Given the description of an element on the screen output the (x, y) to click on. 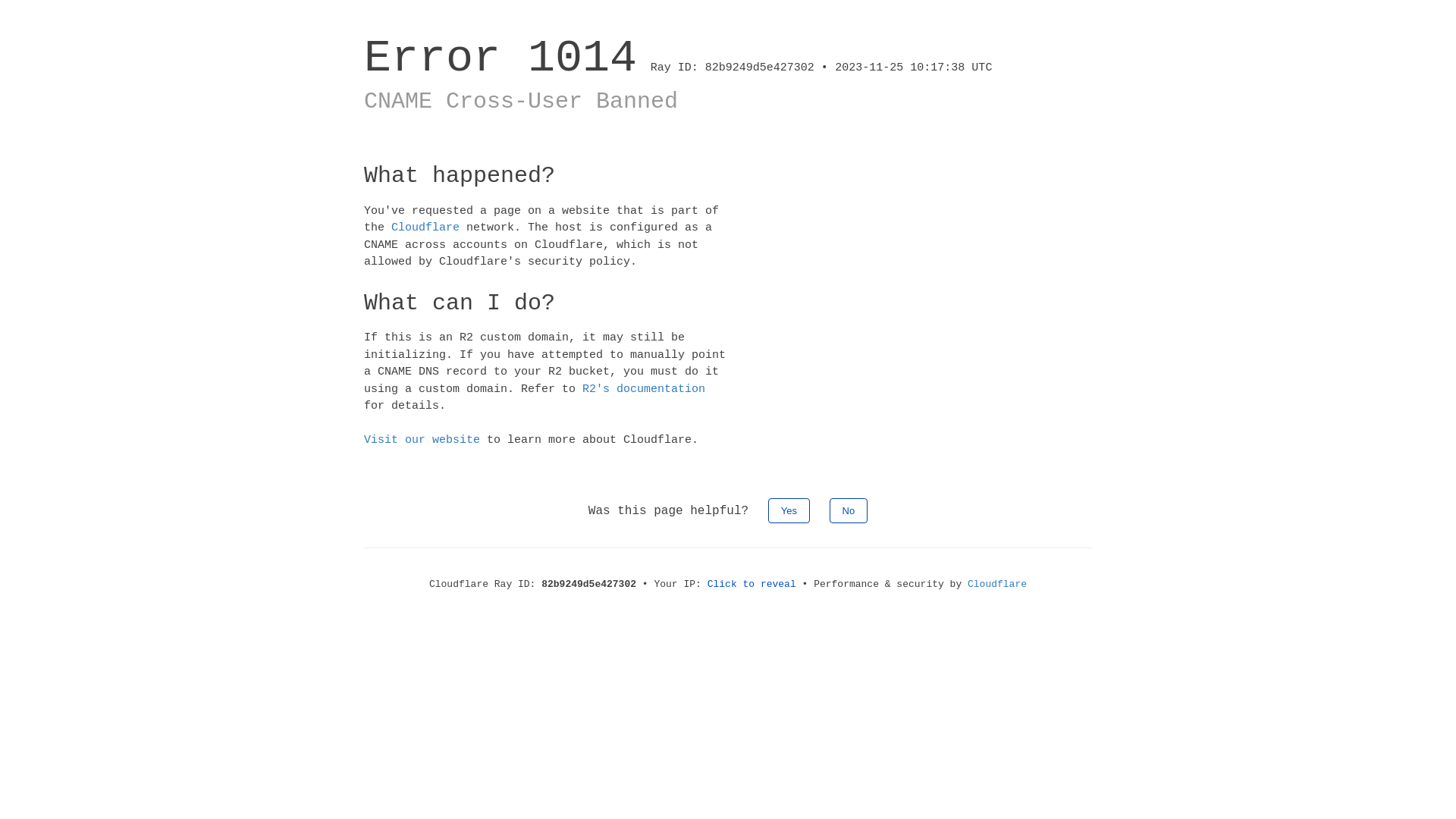
R2's documentation Element type: text (643, 388)
Click to reveal Element type: text (751, 583)
No Element type: text (848, 509)
Visit our website Element type: text (422, 439)
Cloudflare Element type: text (425, 227)
Yes Element type: text (788, 509)
Cloudflare Element type: text (996, 583)
